Given the description of an element on the screen output the (x, y) to click on. 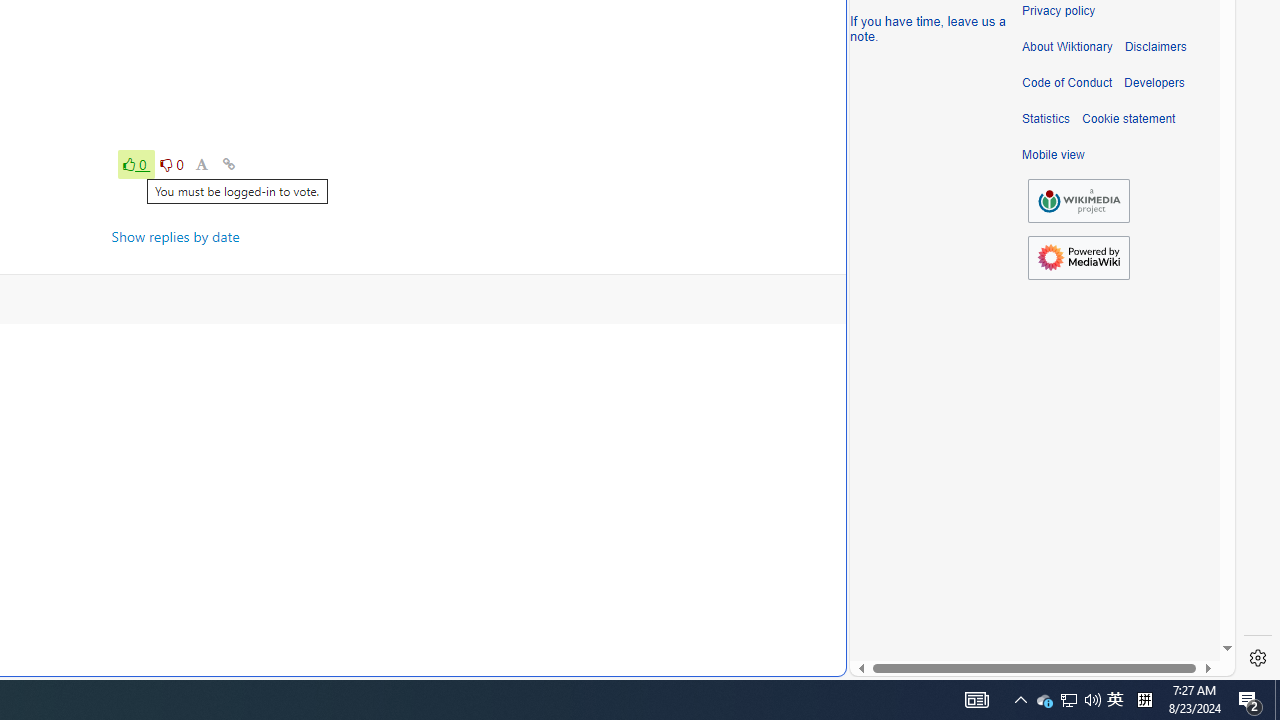
AutomationID: footer-copyrightico (1078, 200)
Powered by MediaWiki (1078, 257)
Wikimedia Foundation (1078, 201)
Developers (1154, 83)
AutomationID: footer-poweredbyico (1078, 257)
Statistics (1046, 119)
